Given the description of an element on the screen output the (x, y) to click on. 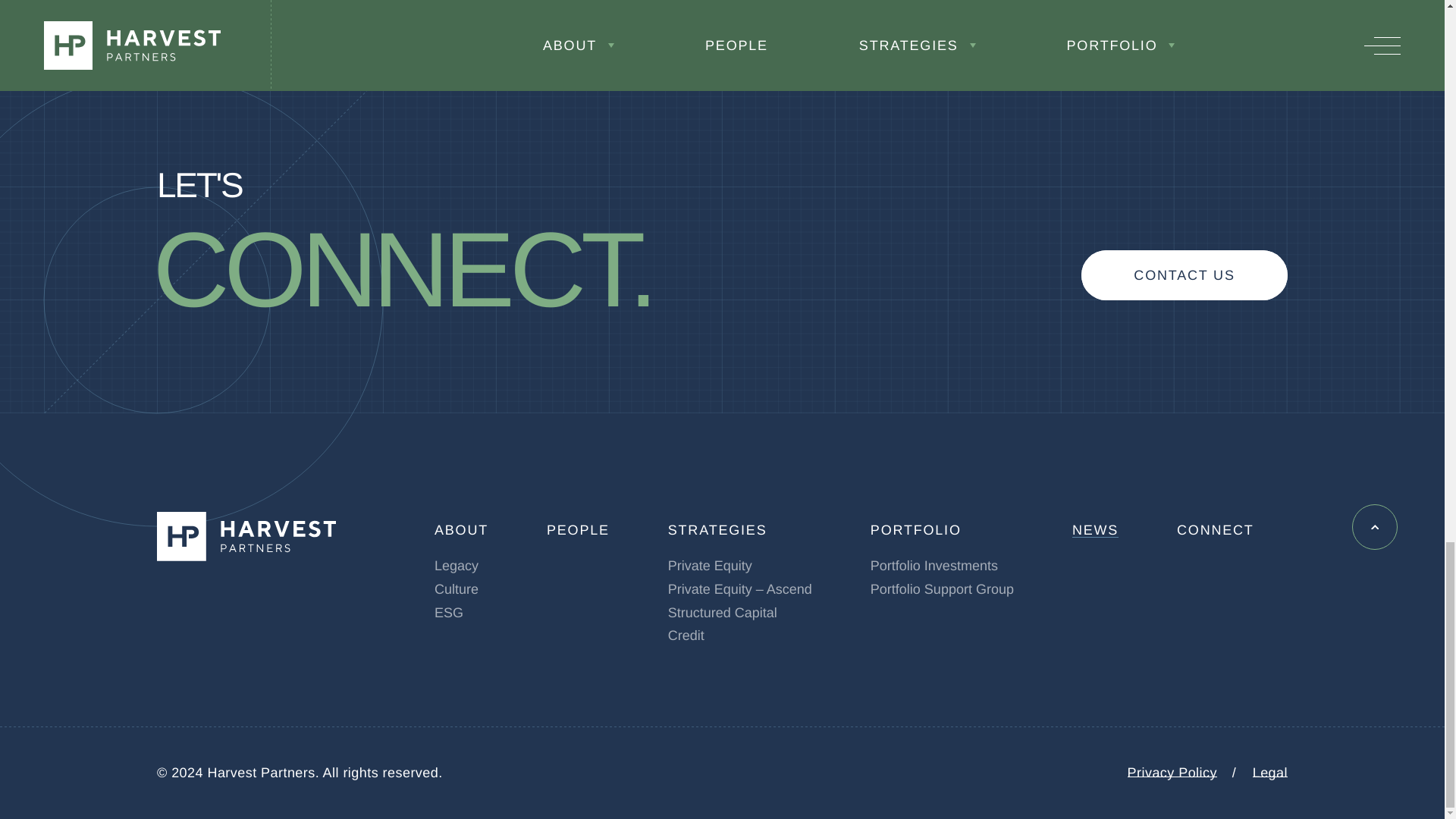
Portfolio Investments (933, 565)
Portfolio Support Group (941, 589)
Culture (456, 589)
Legacy (456, 565)
PEOPLE (578, 529)
CONTACT US (1184, 275)
Private Equity (710, 565)
ESG (448, 612)
STRATEGIES (717, 529)
NEWS (1094, 529)
